Given the description of an element on the screen output the (x, y) to click on. 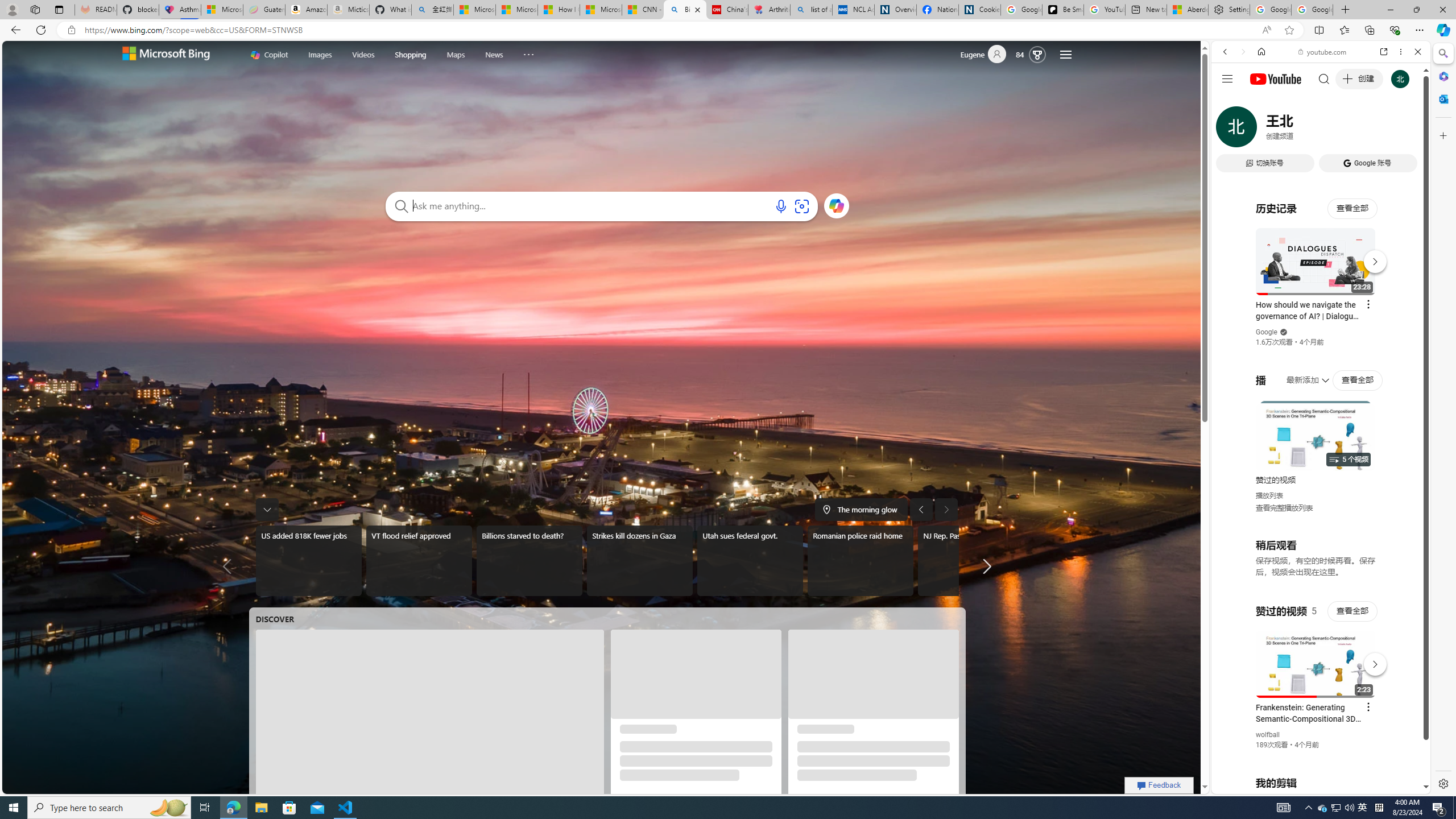
Cookies (979, 9)
Copilot (269, 54)
Learn more (836, 205)
US added 818K fewer jobs (307, 560)
Microsoft Rewards 84 (1033, 54)
wolfball (1268, 734)
